Given the description of an element on the screen output the (x, y) to click on. 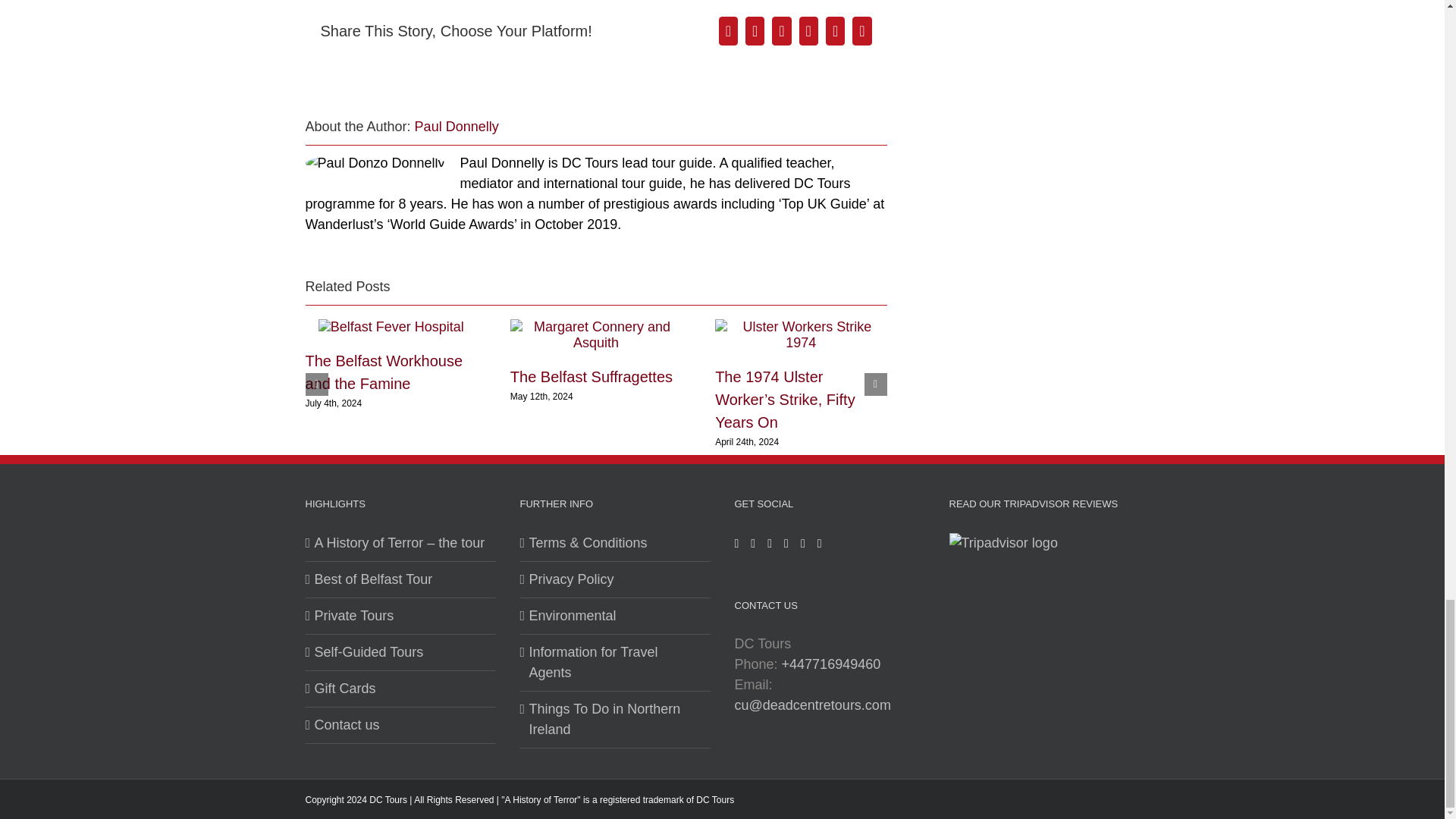
Posts by Paul Donnelly (456, 126)
Paul Donnelly (456, 126)
The Belfast Workhouse and the Famine (383, 372)
The Belfast Suffragettes (591, 376)
